Given the description of an element on the screen output the (x, y) to click on. 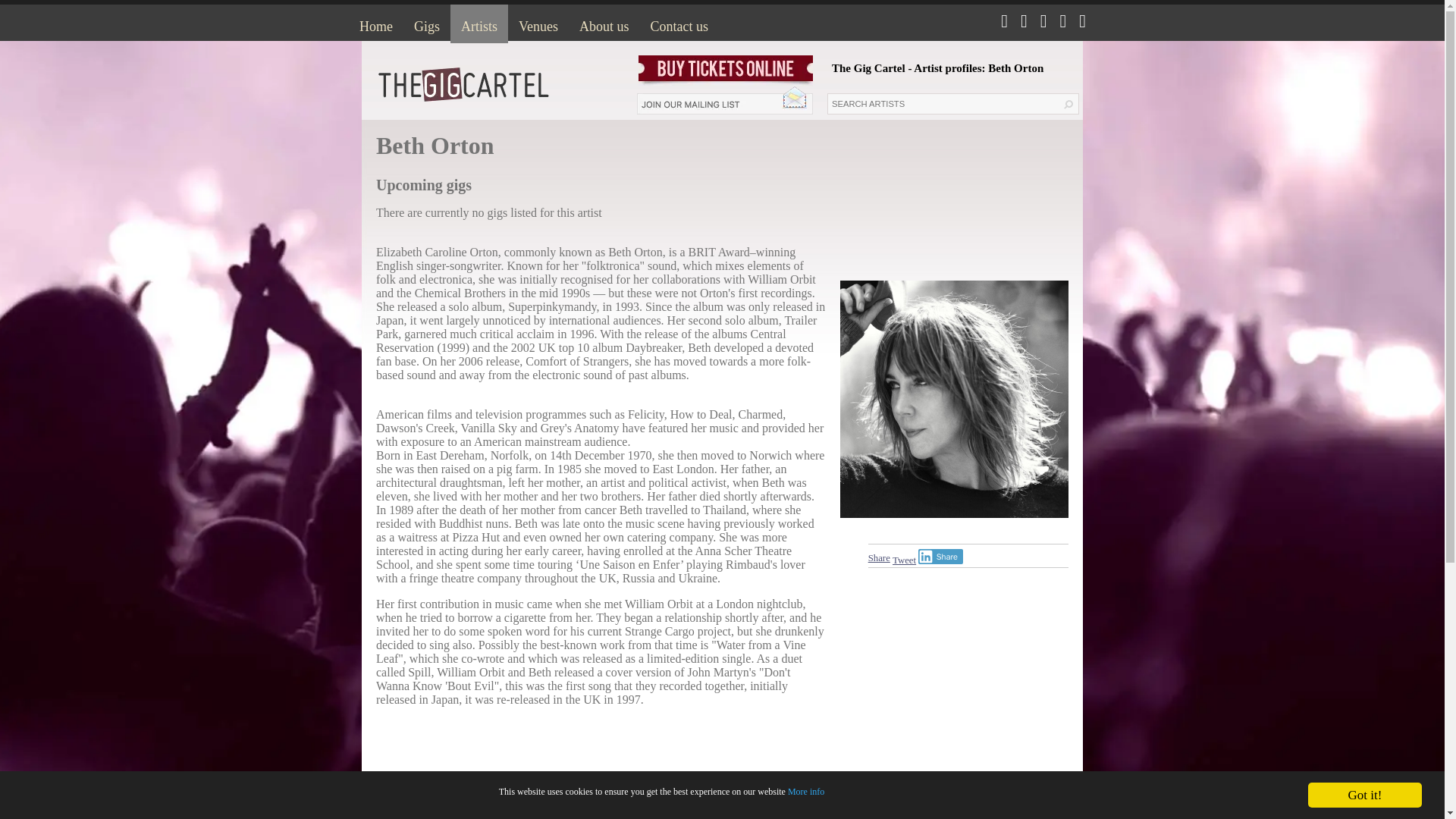
Contact us (679, 23)
Search artists (942, 103)
Share (878, 557)
Gigs (426, 23)
Venues (538, 23)
Share (940, 556)
Home (376, 23)
Artists (478, 23)
Tweet (903, 560)
About us (604, 23)
Advertisement (600, 802)
